Given the description of an element on the screen output the (x, y) to click on. 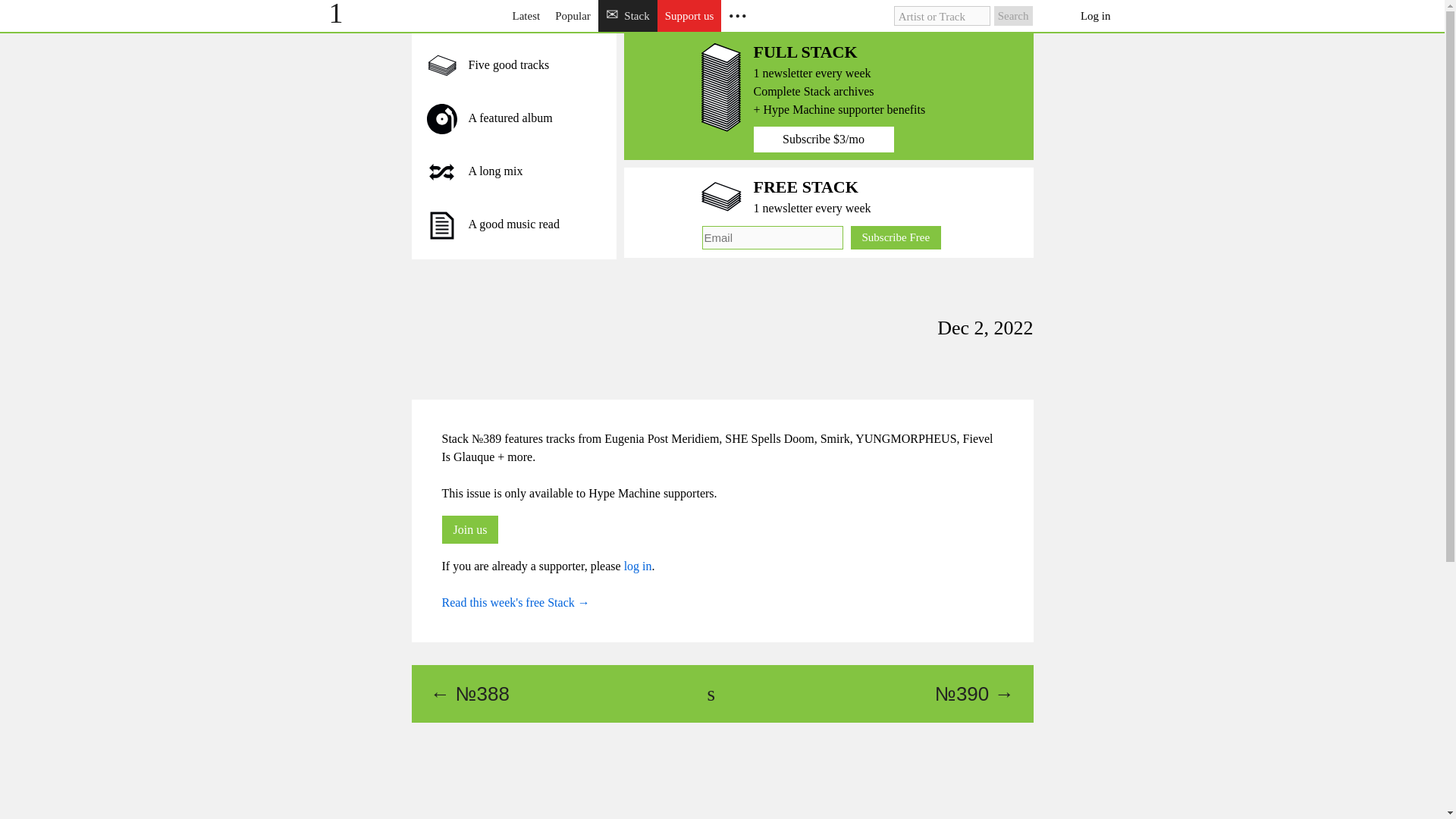
Popular tracks (572, 15)
Subscribe Free (896, 237)
Popular (572, 15)
log in (638, 565)
Fund Hype Machine (690, 15)
Join us (469, 529)
Stack newsletter (628, 15)
Latest music (526, 15)
Search (1013, 15)
Latest (526, 15)
Search (1013, 15)
Log in (1095, 15)
Subscribe Free (896, 237)
Artist or Track (941, 15)
More (737, 15)
